Given the description of an element on the screen output the (x, y) to click on. 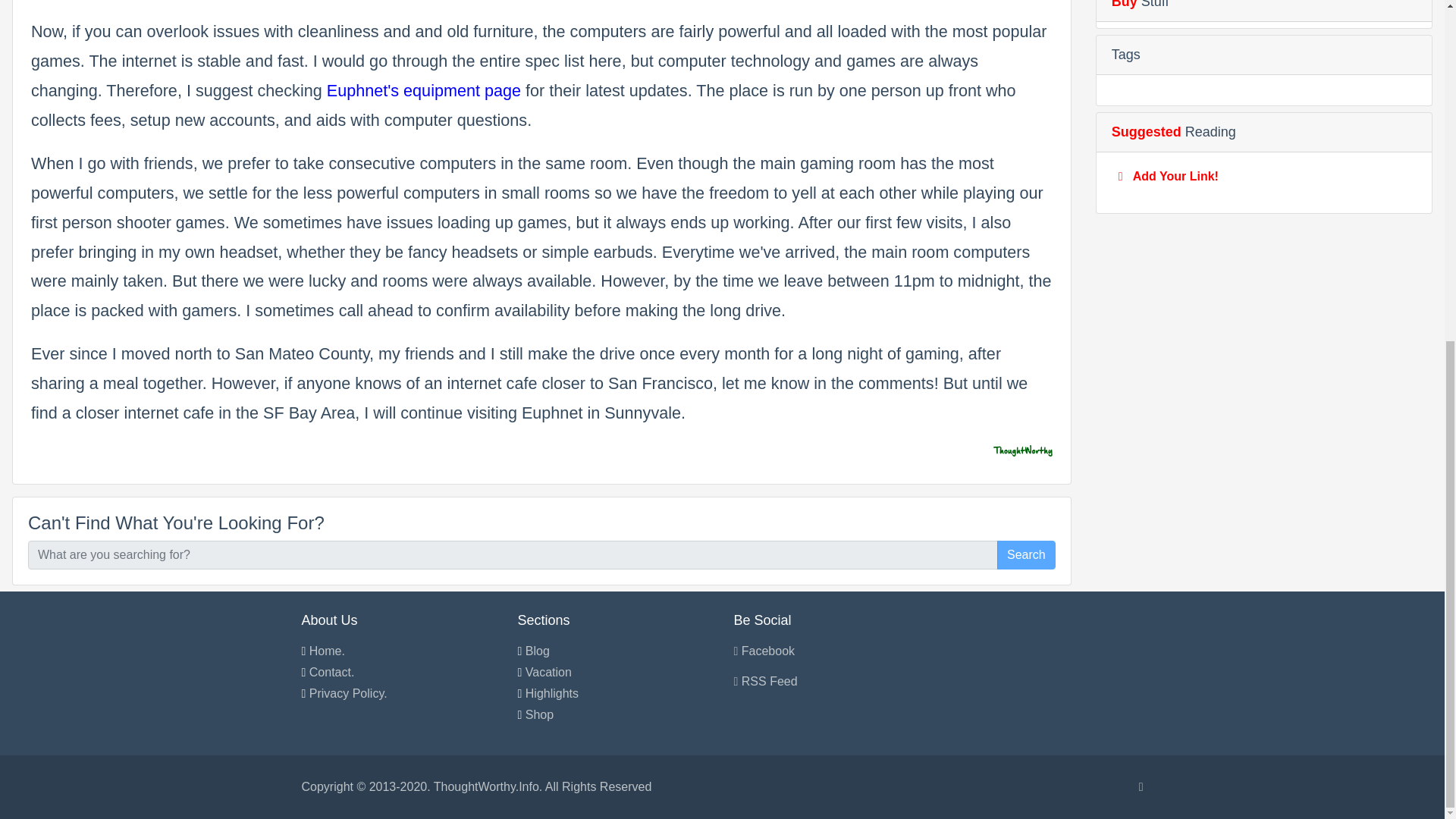
Blog (537, 650)
Search (1026, 554)
 RSS Feed (765, 680)
Contact. (331, 671)
ThoughtWorthy.Info (485, 786)
Add Your Link! (1175, 175)
Euphnet's equipment page (423, 90)
Search (1026, 554)
Shop (539, 714)
Highlights (551, 693)
 Facebook (763, 650)
Privacy Policy. (347, 693)
Home. (326, 650)
Vacation (548, 671)
